Given the description of an element on the screen output the (x, y) to click on. 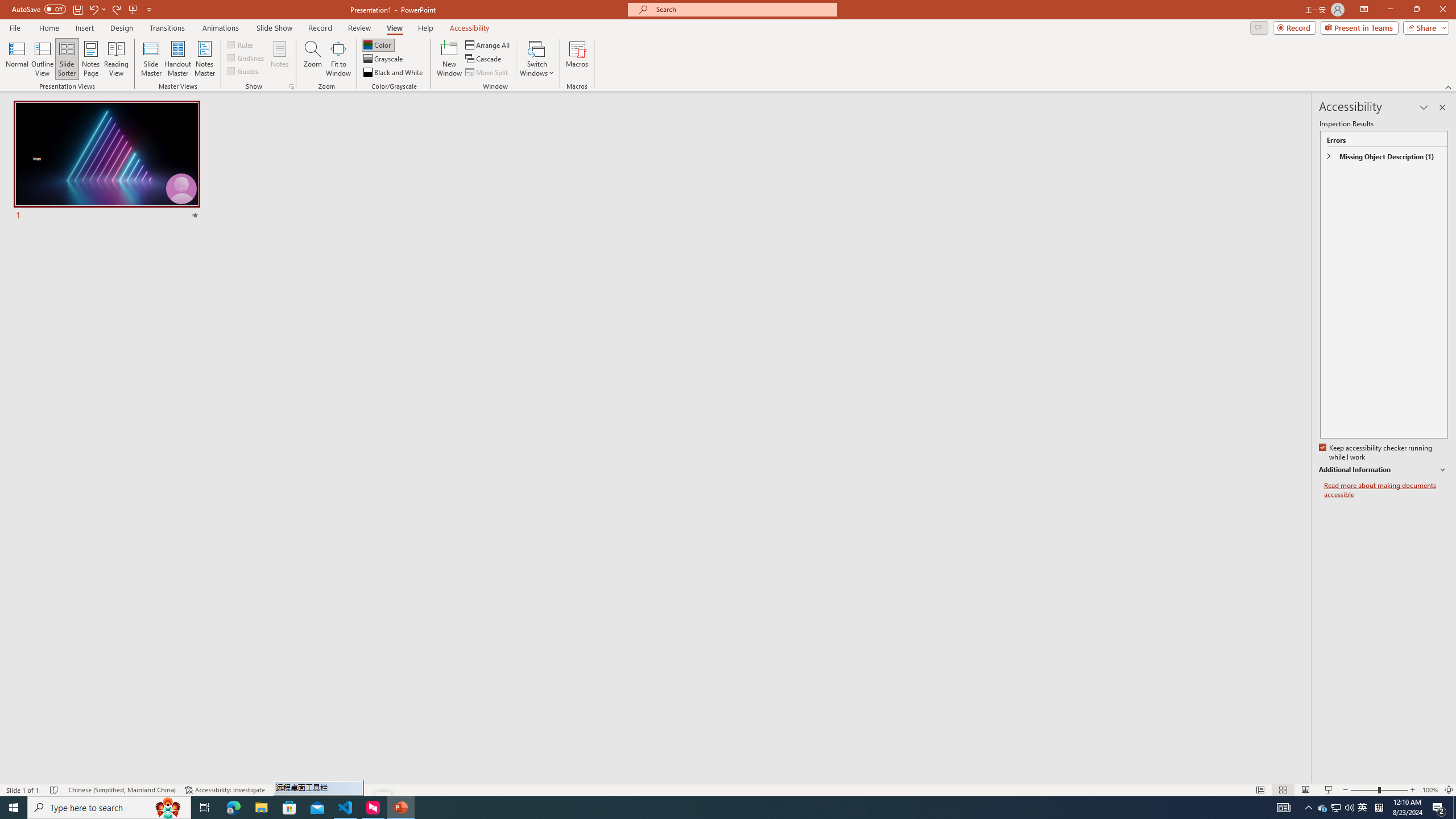
Grid Settings... (291, 85)
Switch Windows (537, 58)
Slide Master (151, 58)
Zoom... (312, 58)
